Given the description of an element on the screen output the (x, y) to click on. 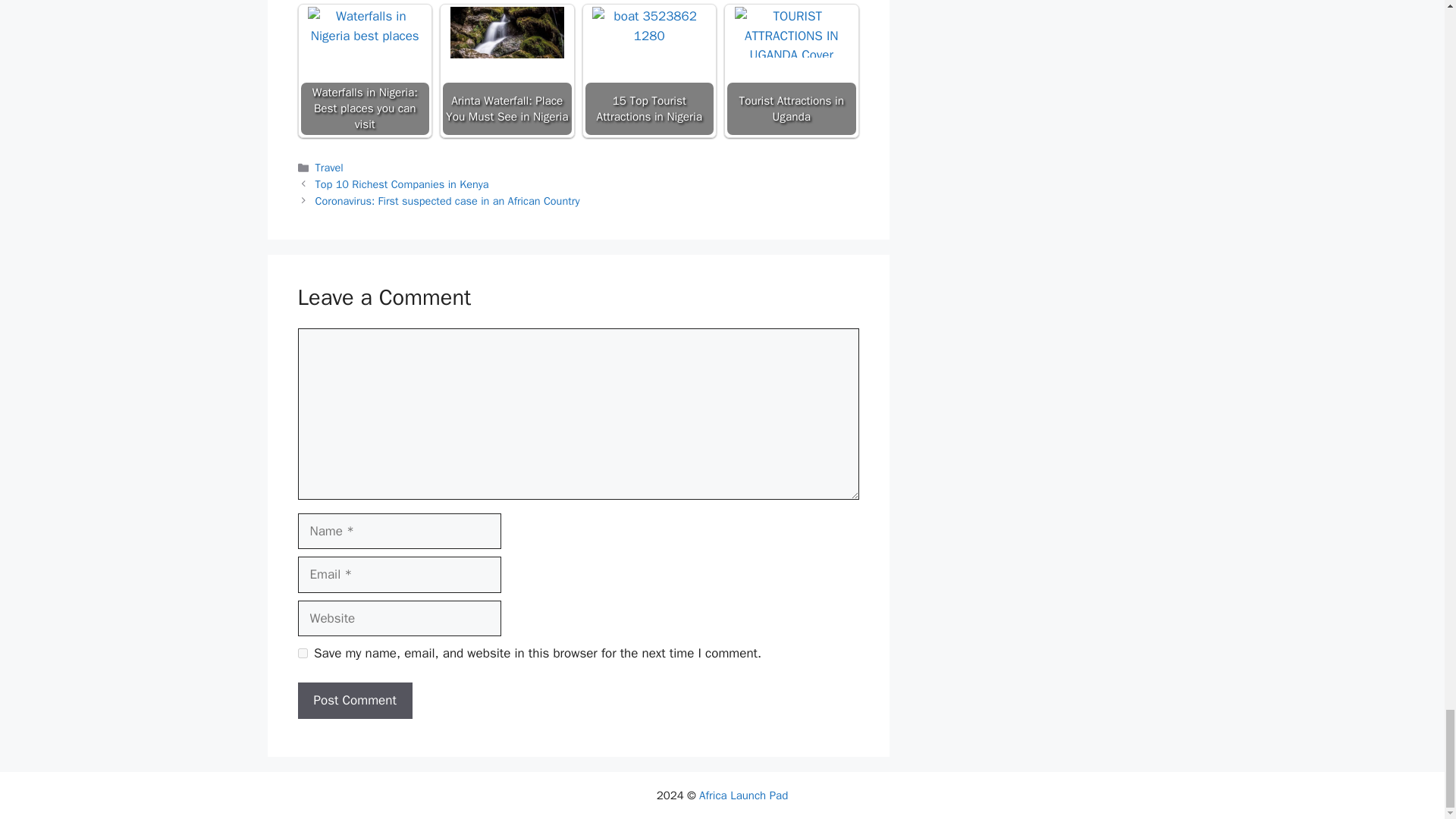
Waterfalls in Nigeria: Best places you can visit (364, 25)
yes (302, 653)
Tourist Attractions in Uganda (791, 31)
Arinta Waterfall: Place You Must See in Nigeria (506, 31)
Post Comment (354, 700)
15 Top Tourist Attractions in Nigeria (649, 38)
